Given the description of an element on the screen output the (x, y) to click on. 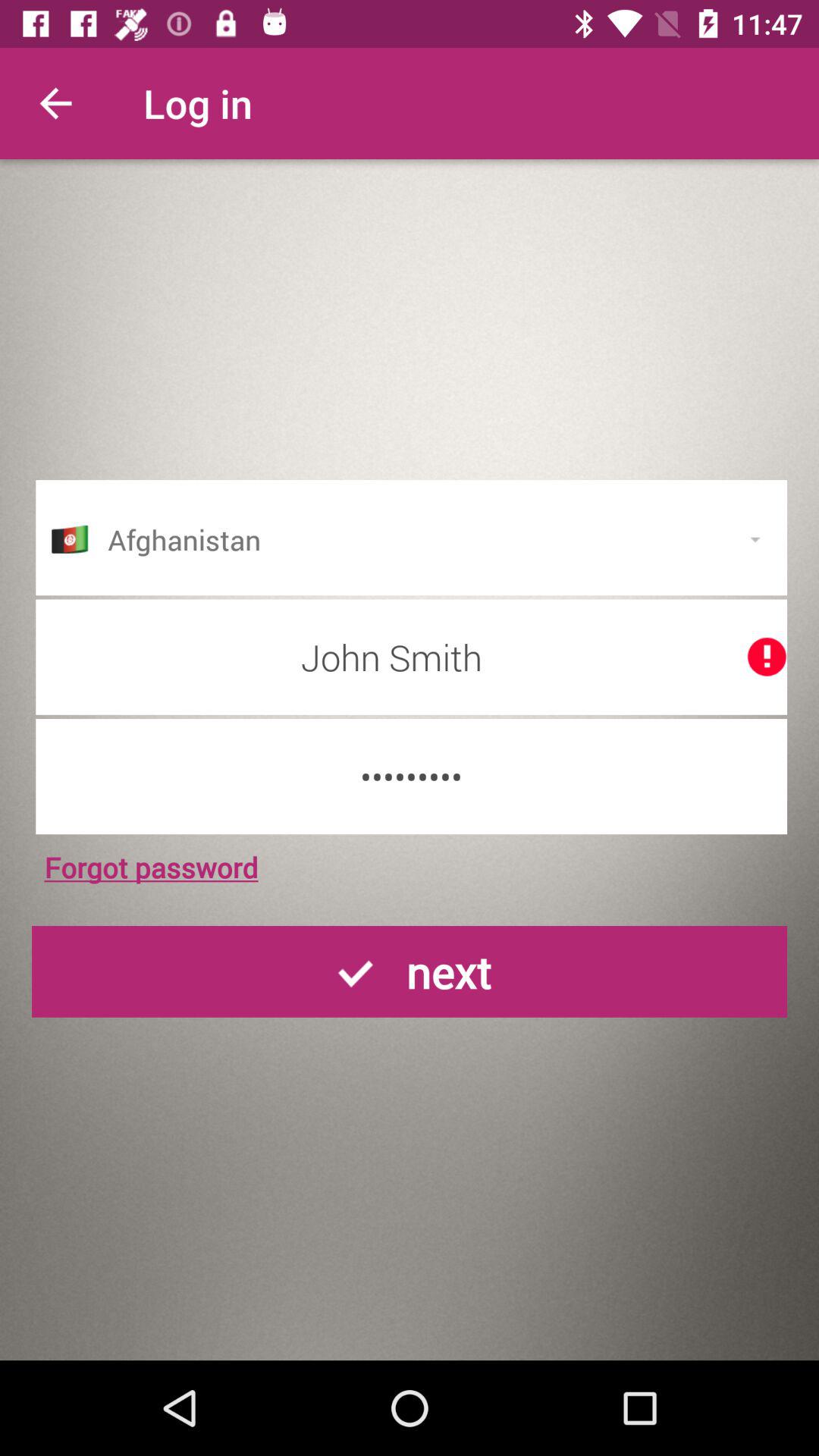
jump until forgot password item (151, 867)
